Given the description of an element on the screen output the (x, y) to click on. 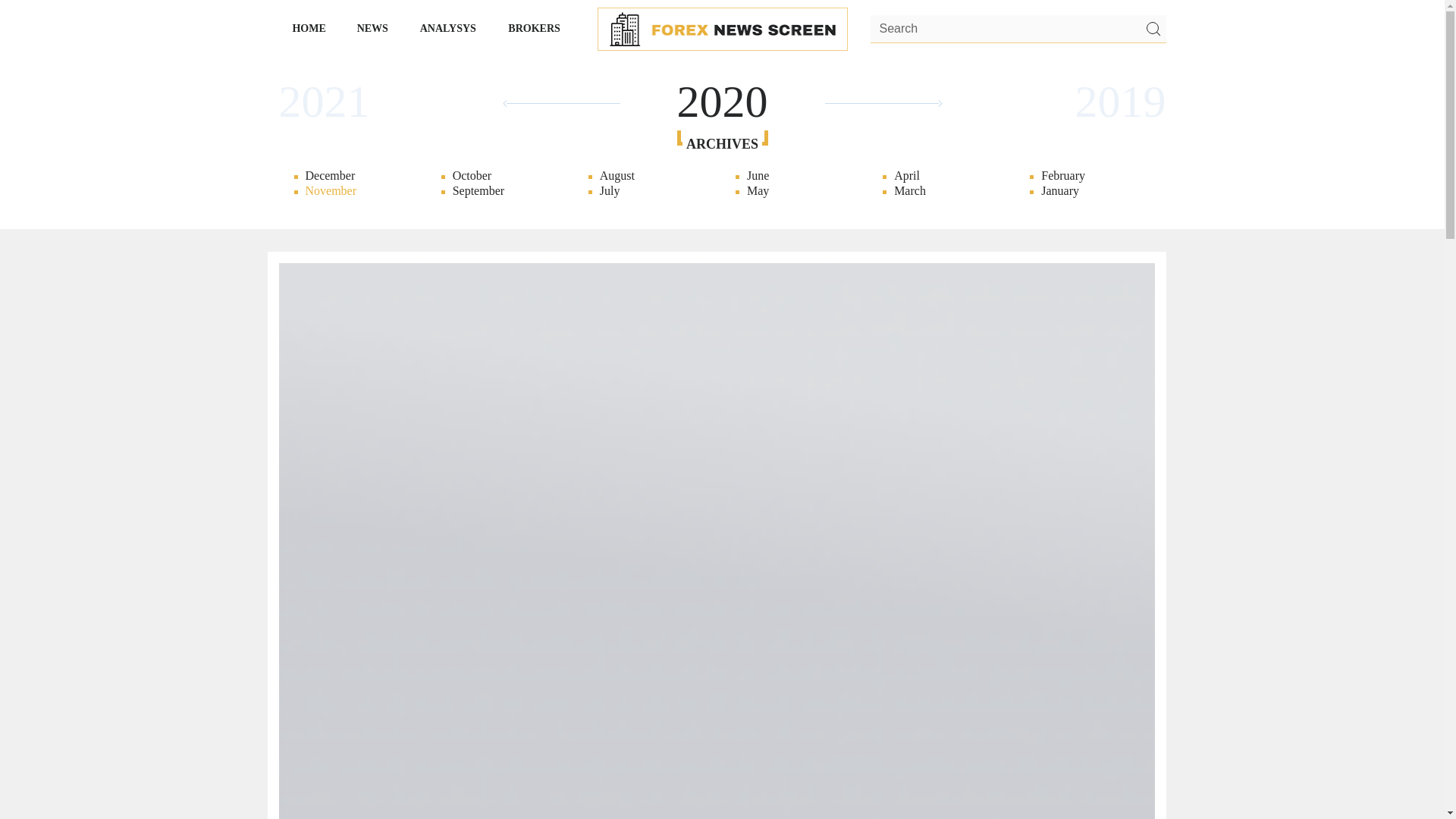
April (942, 175)
June (795, 175)
BROKERS (535, 28)
January (1089, 191)
July (648, 191)
November (1240, 191)
December (354, 175)
Search (1018, 29)
HOME (309, 28)
March (942, 191)
